Given the description of an element on the screen output the (x, y) to click on. 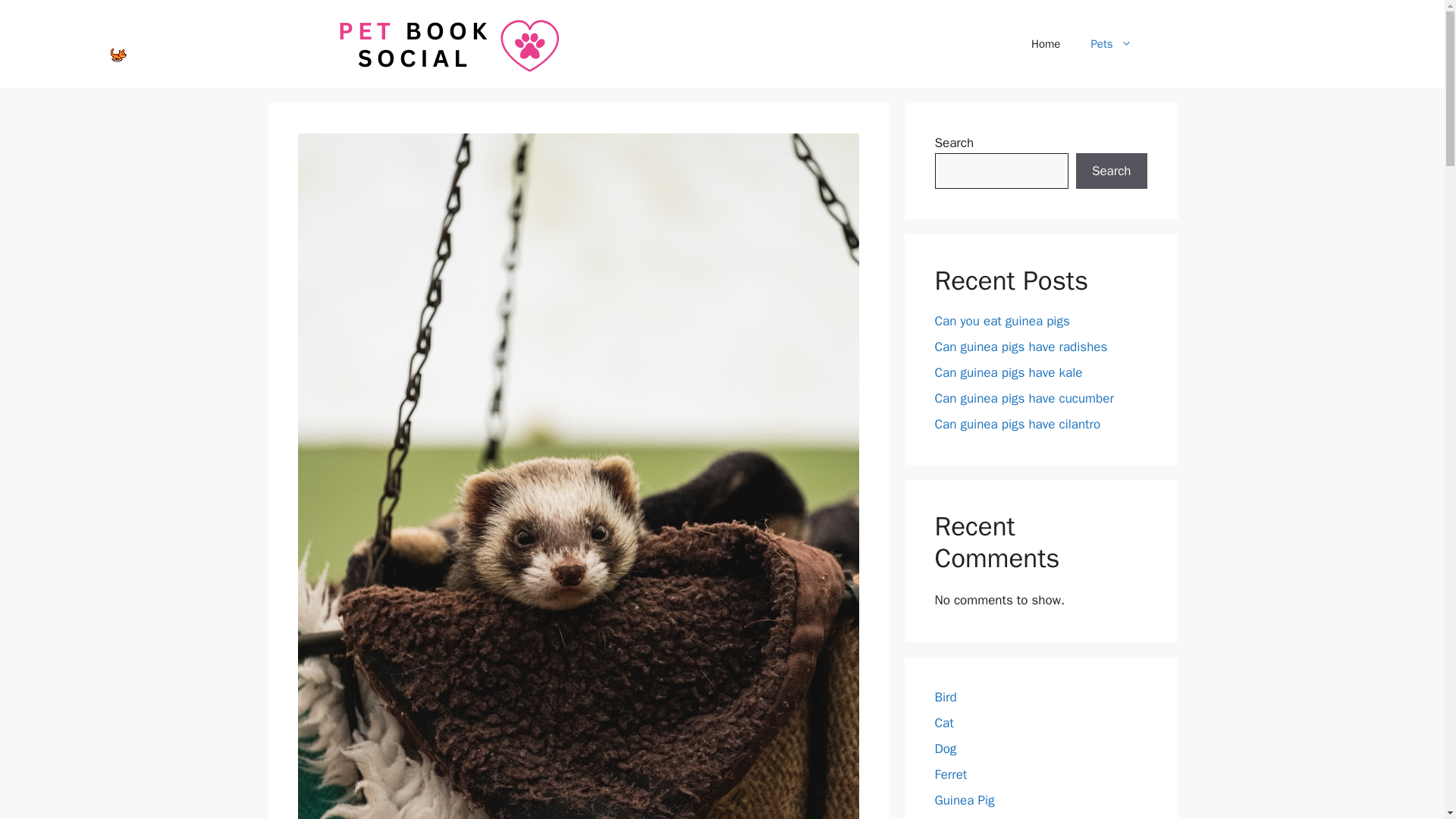
Search (1111, 171)
Home (1045, 43)
Can guinea pigs have kale (1007, 372)
Can guinea pigs have radishes (1020, 346)
Can you eat guinea pigs (1001, 320)
Pets (1111, 43)
